Given the description of an element on the screen output the (x, y) to click on. 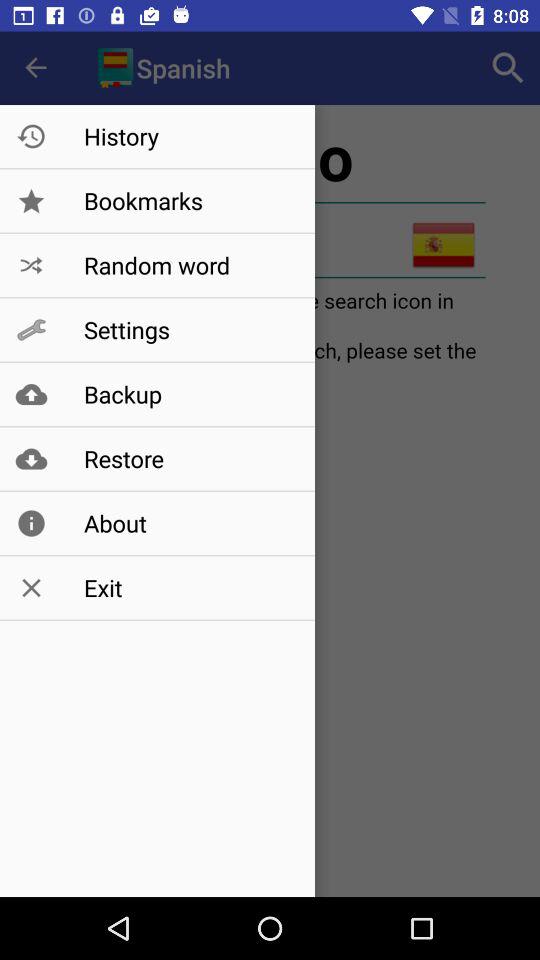
jump to backup icon (188, 394)
